Given the description of an element on the screen output the (x, y) to click on. 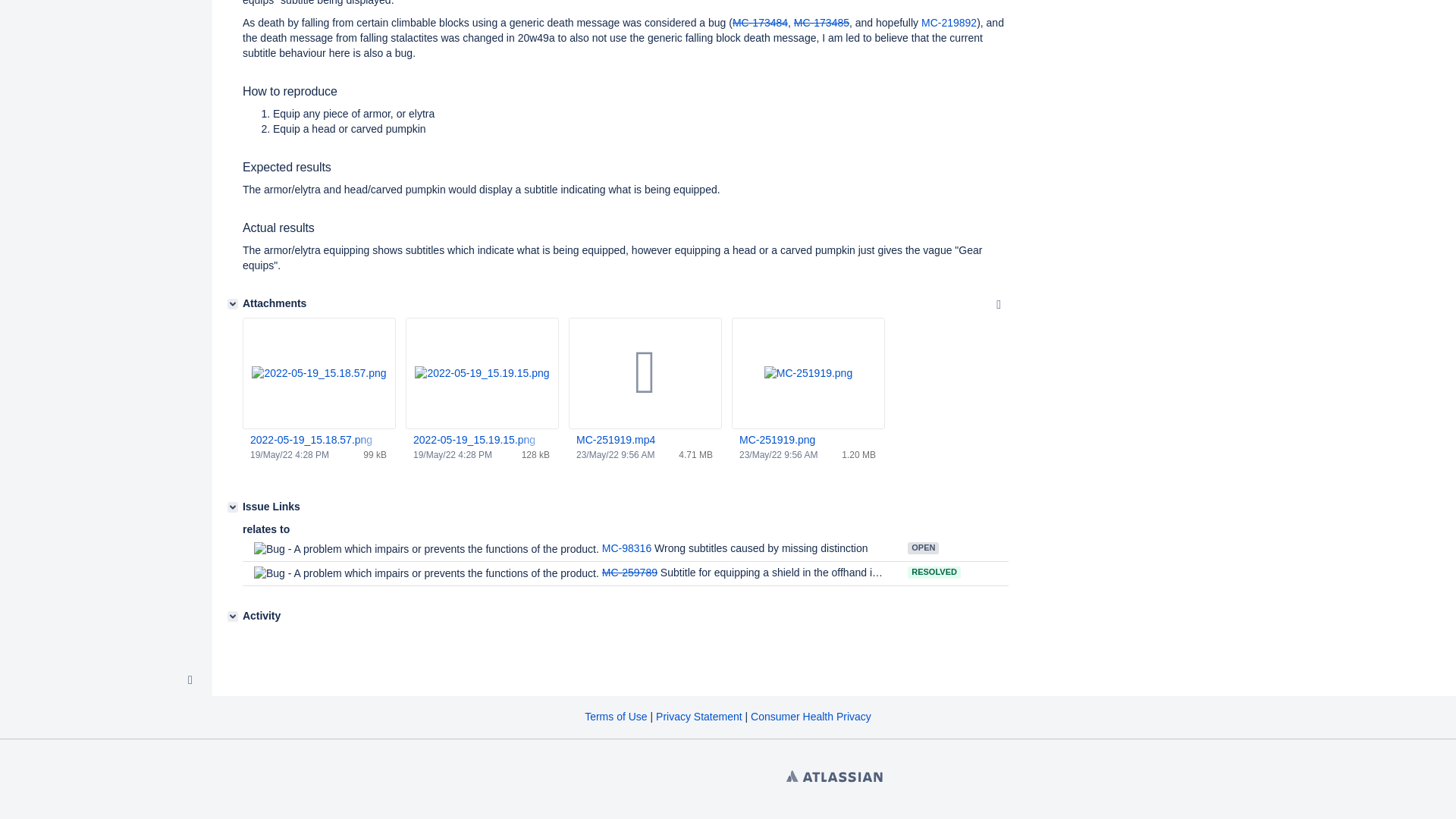
MC-173485 (820, 22)
MC-173484 (759, 22)
MC-219892 (948, 22)
